Given the description of an element on the screen output the (x, y) to click on. 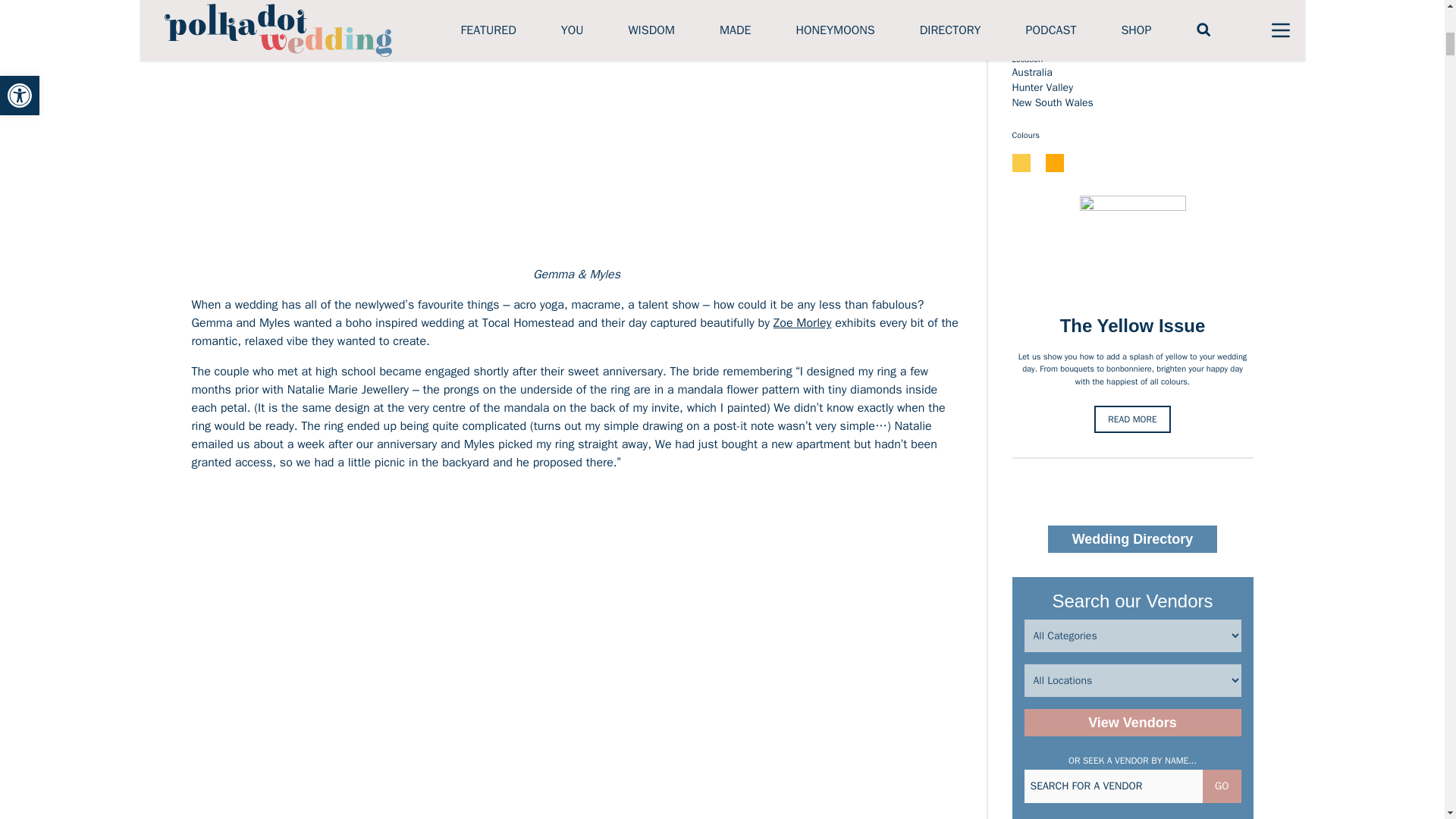
Primrose Yellow (1020, 162)
Saffron Yellow (1054, 162)
Zoe Morley (802, 322)
